Given the description of an element on the screen output the (x, y) to click on. 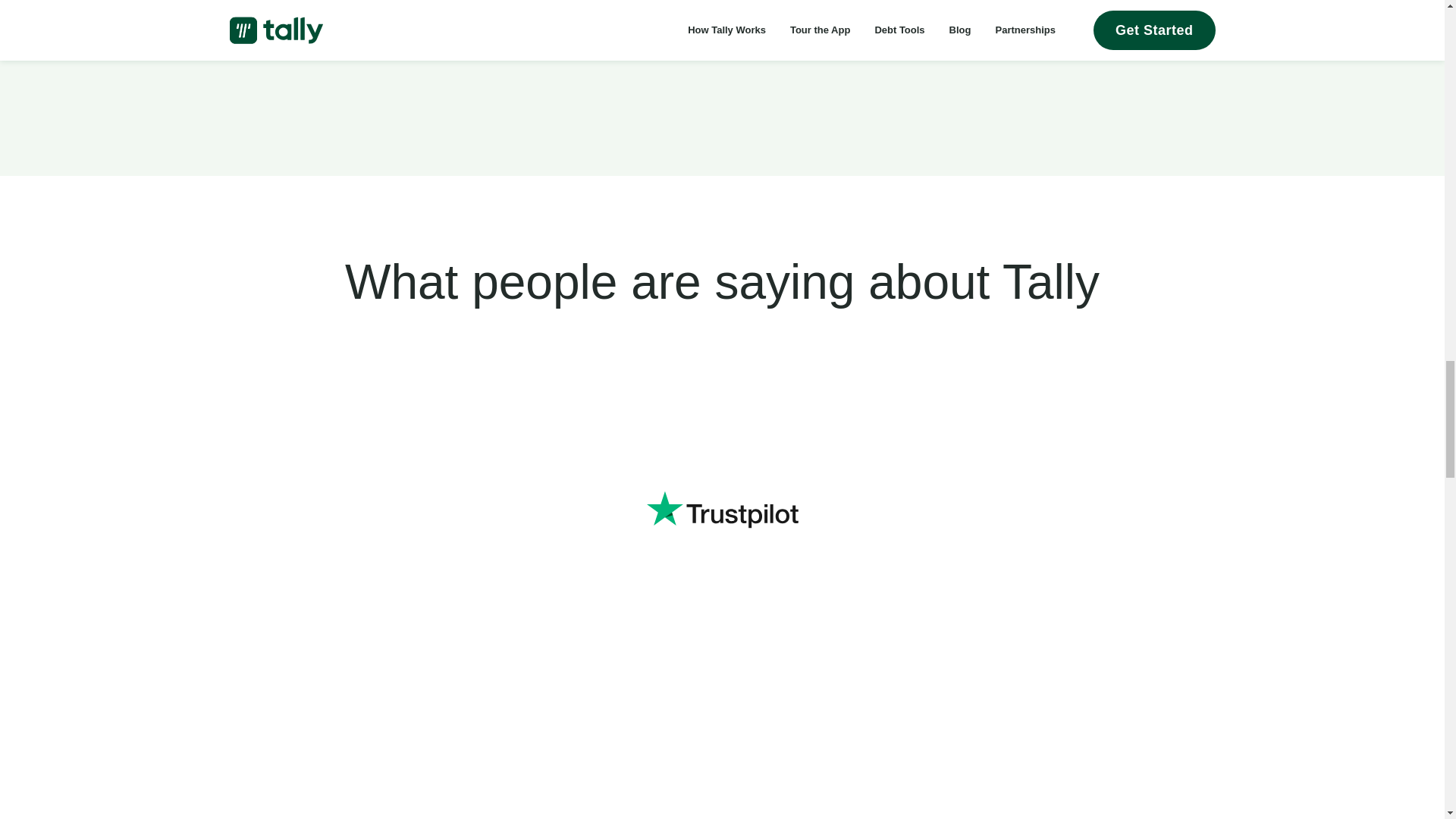
Get Tally (830, 9)
